Given the description of an element on the screen output the (x, y) to click on. 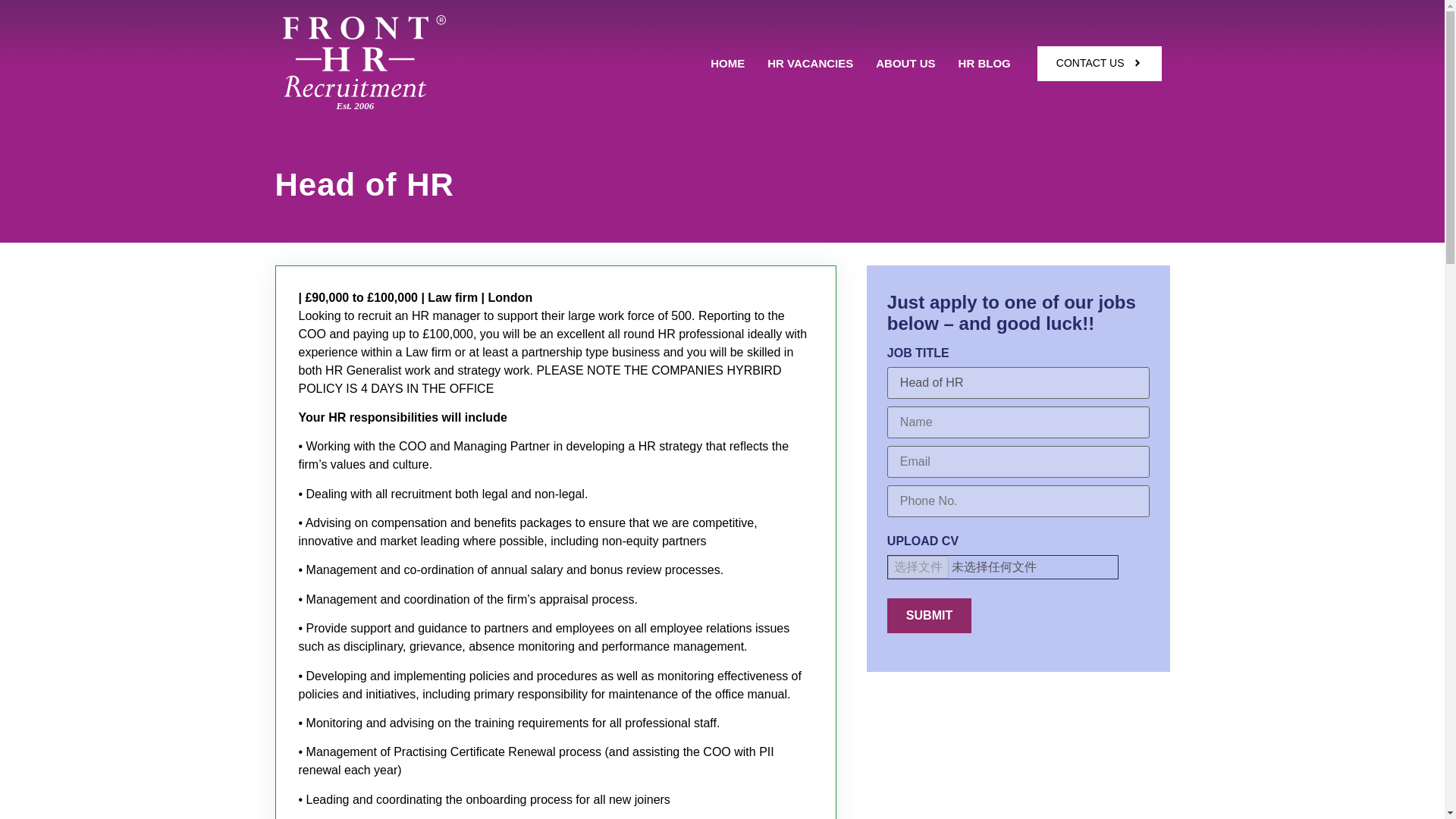
Submit (928, 615)
Head of HR (1018, 382)
Est. 2006 (432, 104)
ABOUT US (904, 63)
HR BLOG (984, 63)
HOME (727, 63)
CONTACT US (1098, 63)
Submit (928, 615)
HR VACANCIES (810, 63)
